Given the description of an element on the screen output the (x, y) to click on. 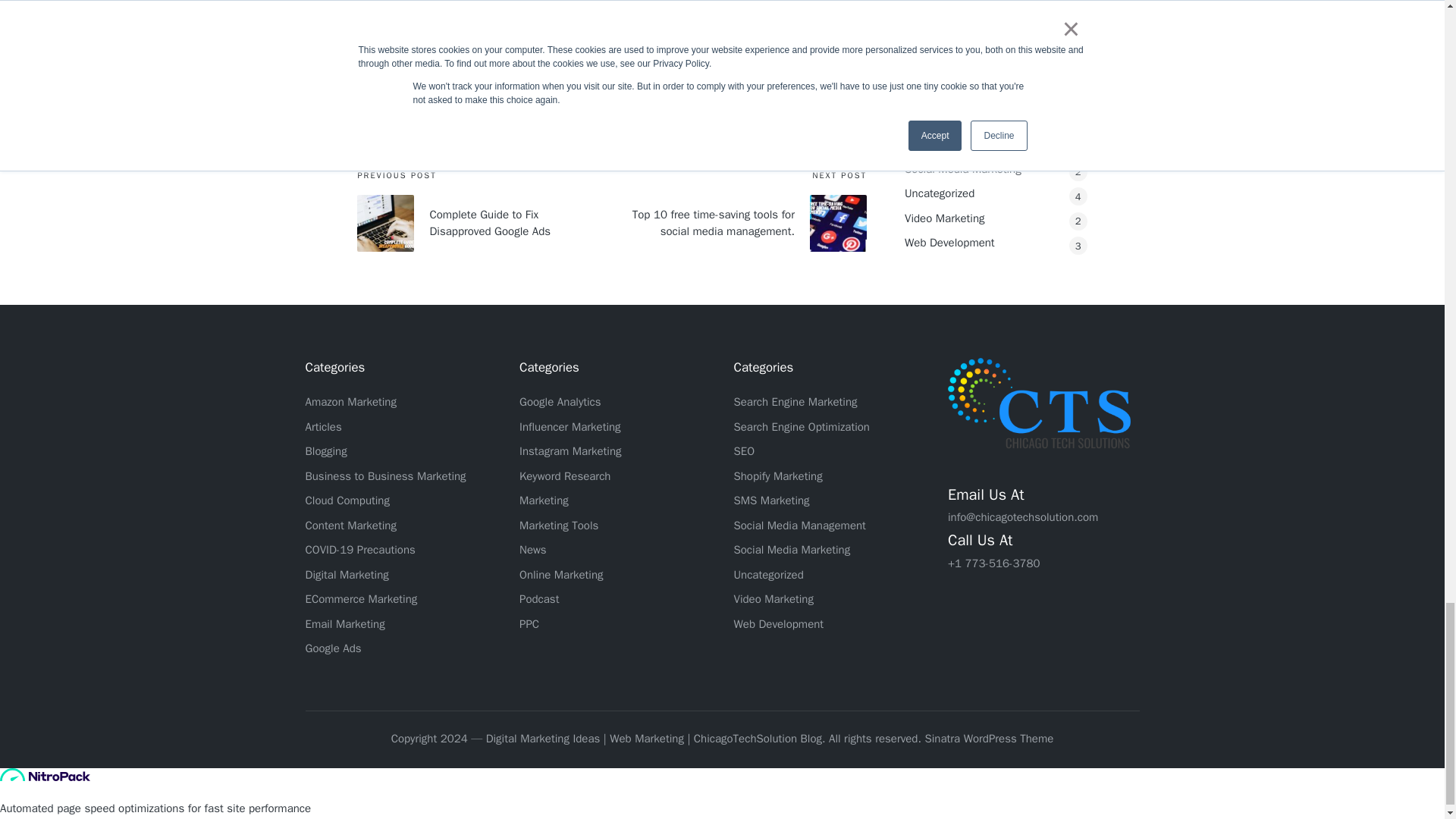
Top 10 free time-saving tools for social media management. (738, 222)
Complete Guide to Fix Disapproved Google Ads (483, 222)
View All Posts (498, 102)
sameer (488, 68)
